Given the description of an element on the screen output the (x, y) to click on. 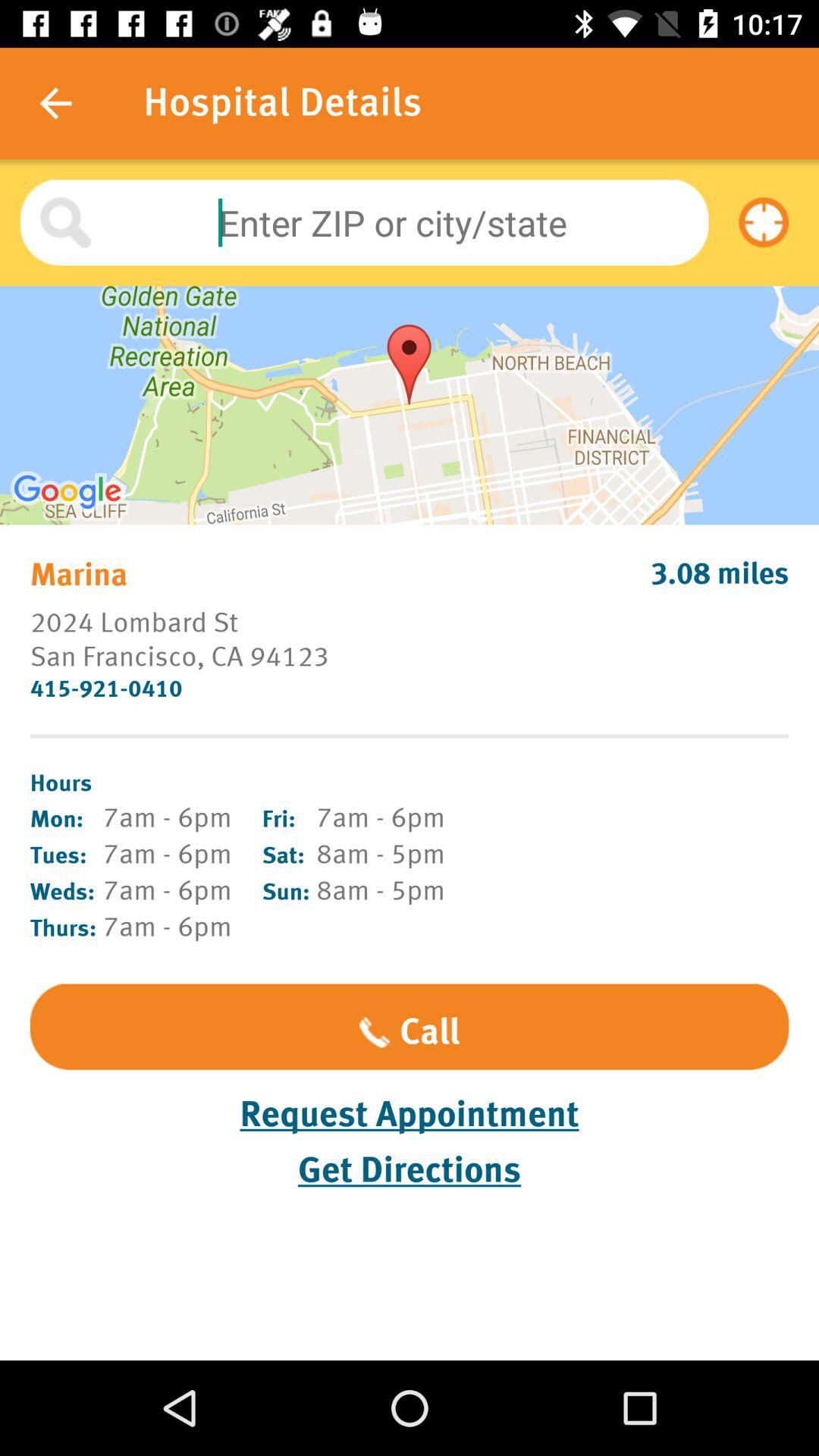
press icon below the call item (409, 1114)
